Given the description of an element on the screen output the (x, y) to click on. 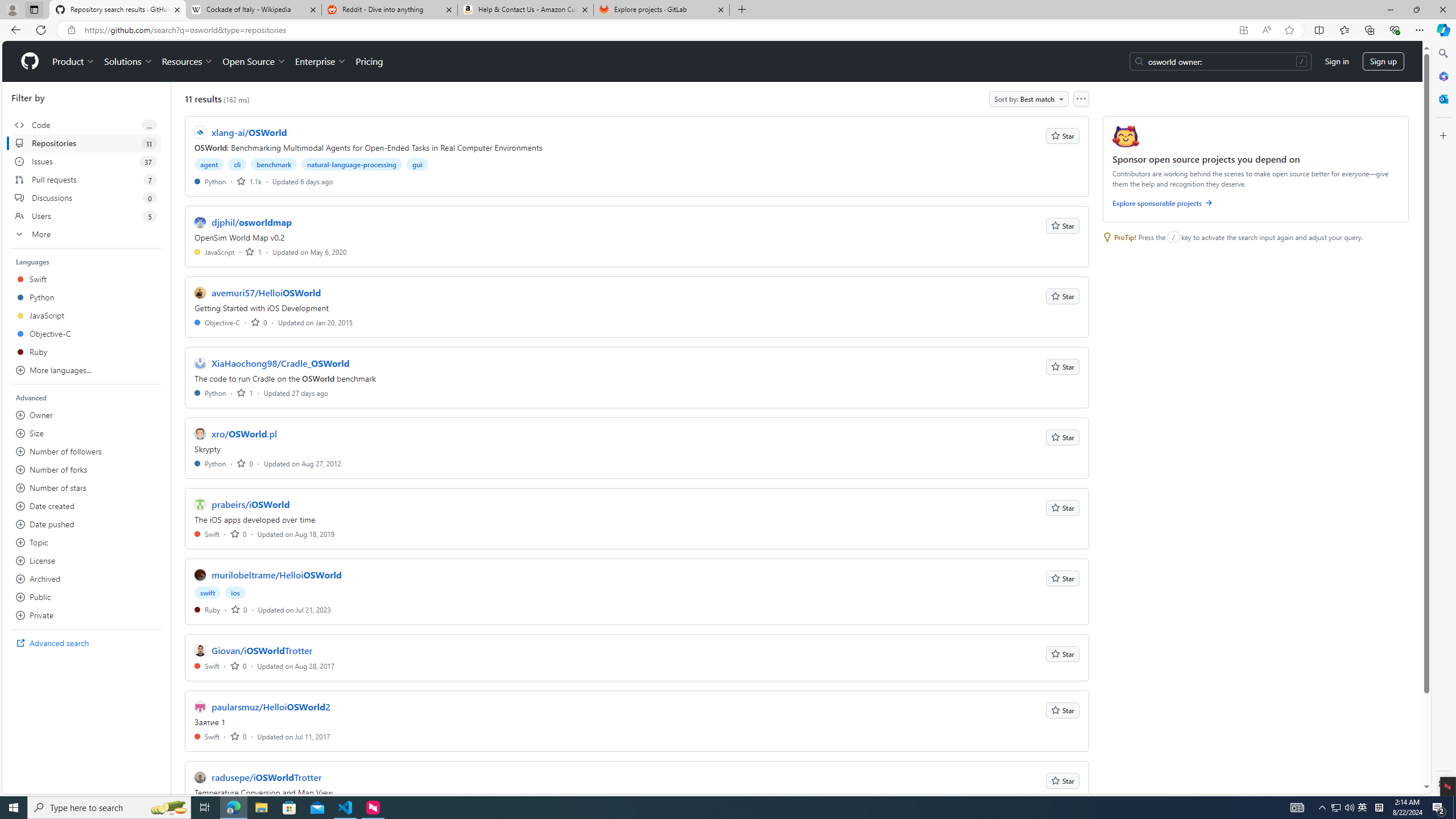
Giovan/iOSWorldTrotter (262, 650)
Solutions (128, 60)
Enterprise (319, 60)
1098 stars (248, 181)
ios (235, 592)
Updated on Aug 28, 2017 (295, 665)
murilobeltrame/HelloiOSWorld (276, 574)
